Given the description of an element on the screen output the (x, y) to click on. 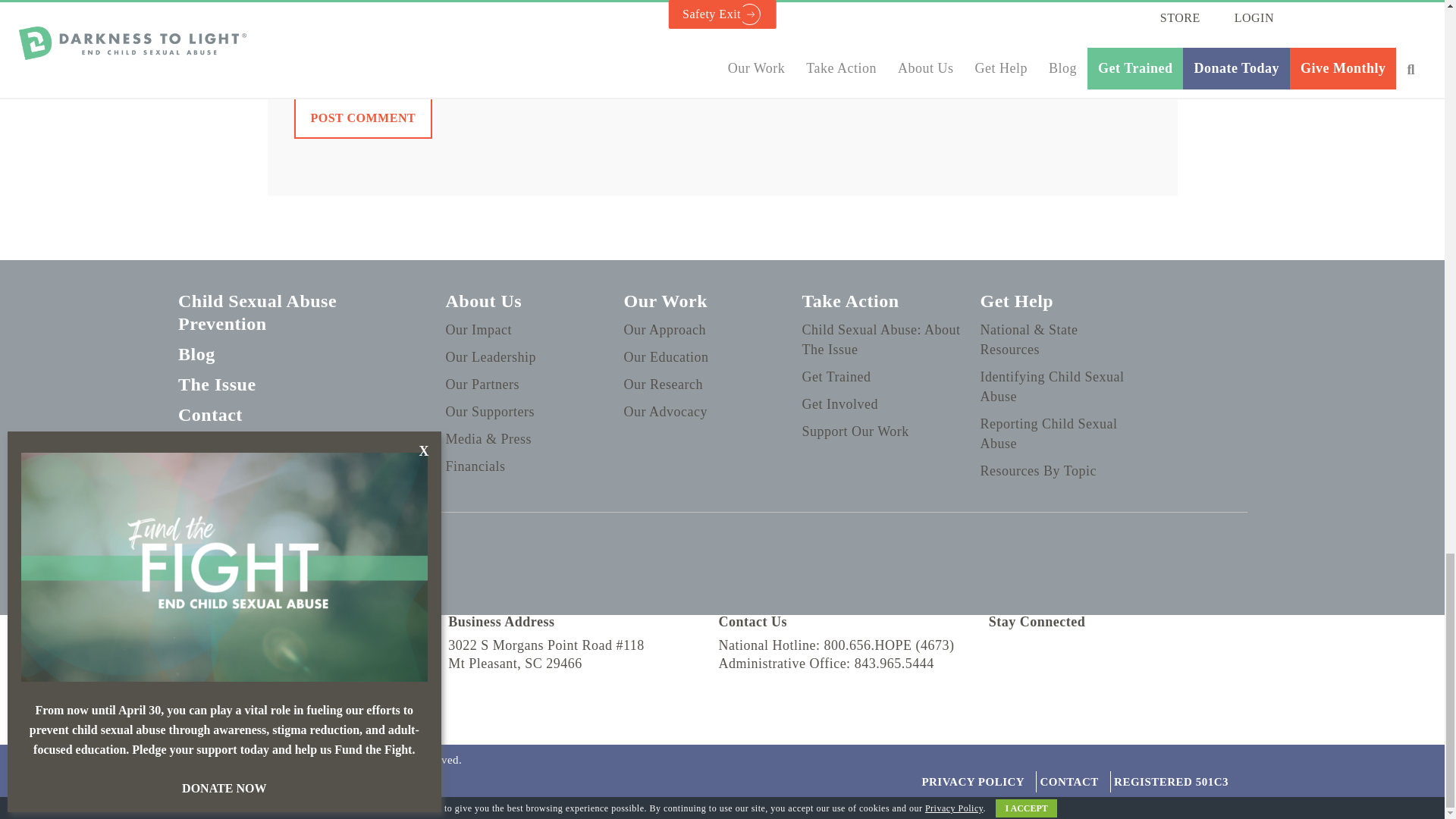
Post Comment (363, 117)
